Given the description of an element on the screen output the (x, y) to click on. 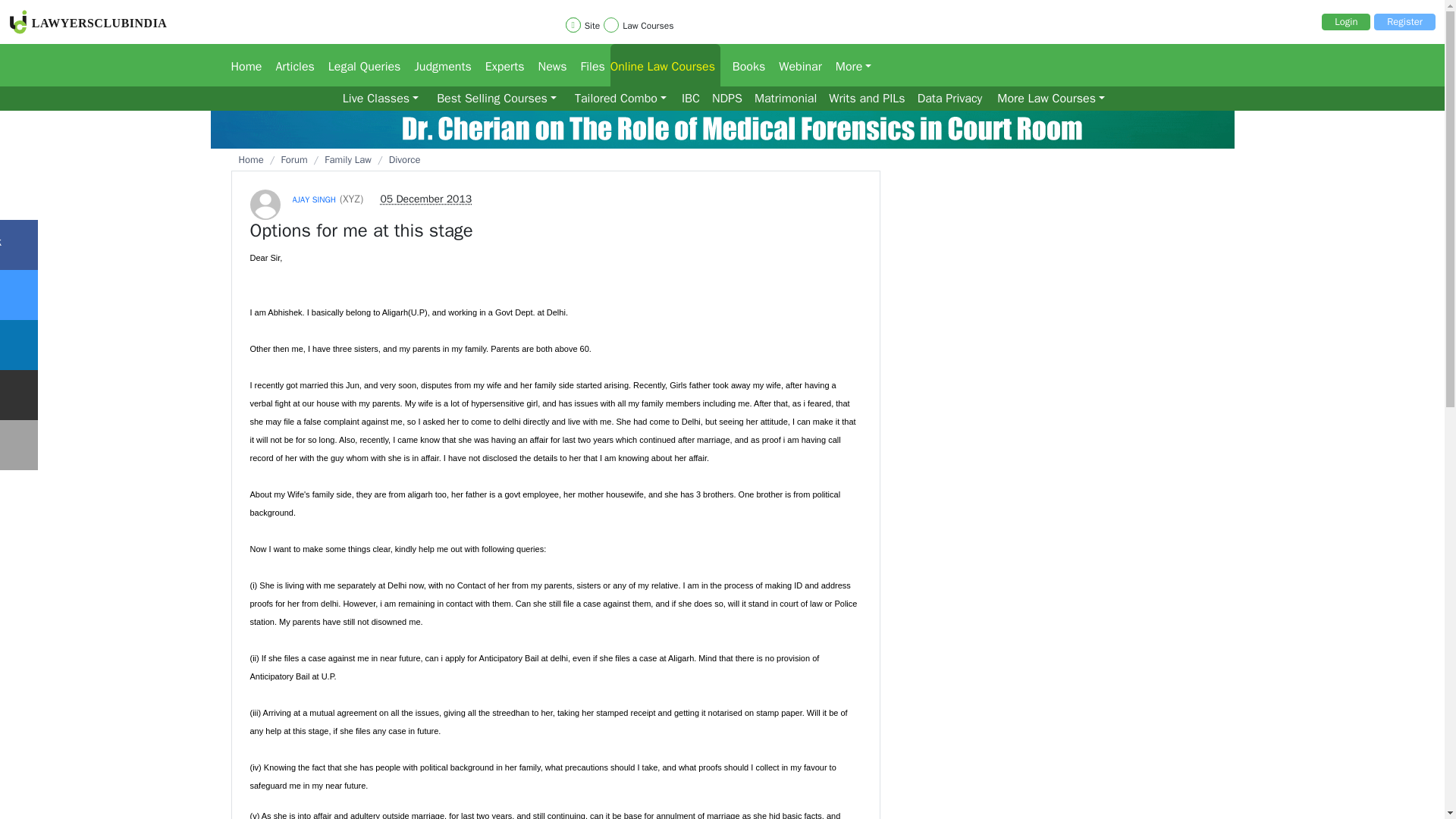
More (848, 65)
Login (1346, 21)
Books (743, 65)
Experts (499, 65)
Live Classes (379, 98)
Experts (499, 65)
News (547, 65)
Forum (359, 65)
Judgments (436, 65)
Webinar (795, 65)
